Given the description of an element on the screen output the (x, y) to click on. 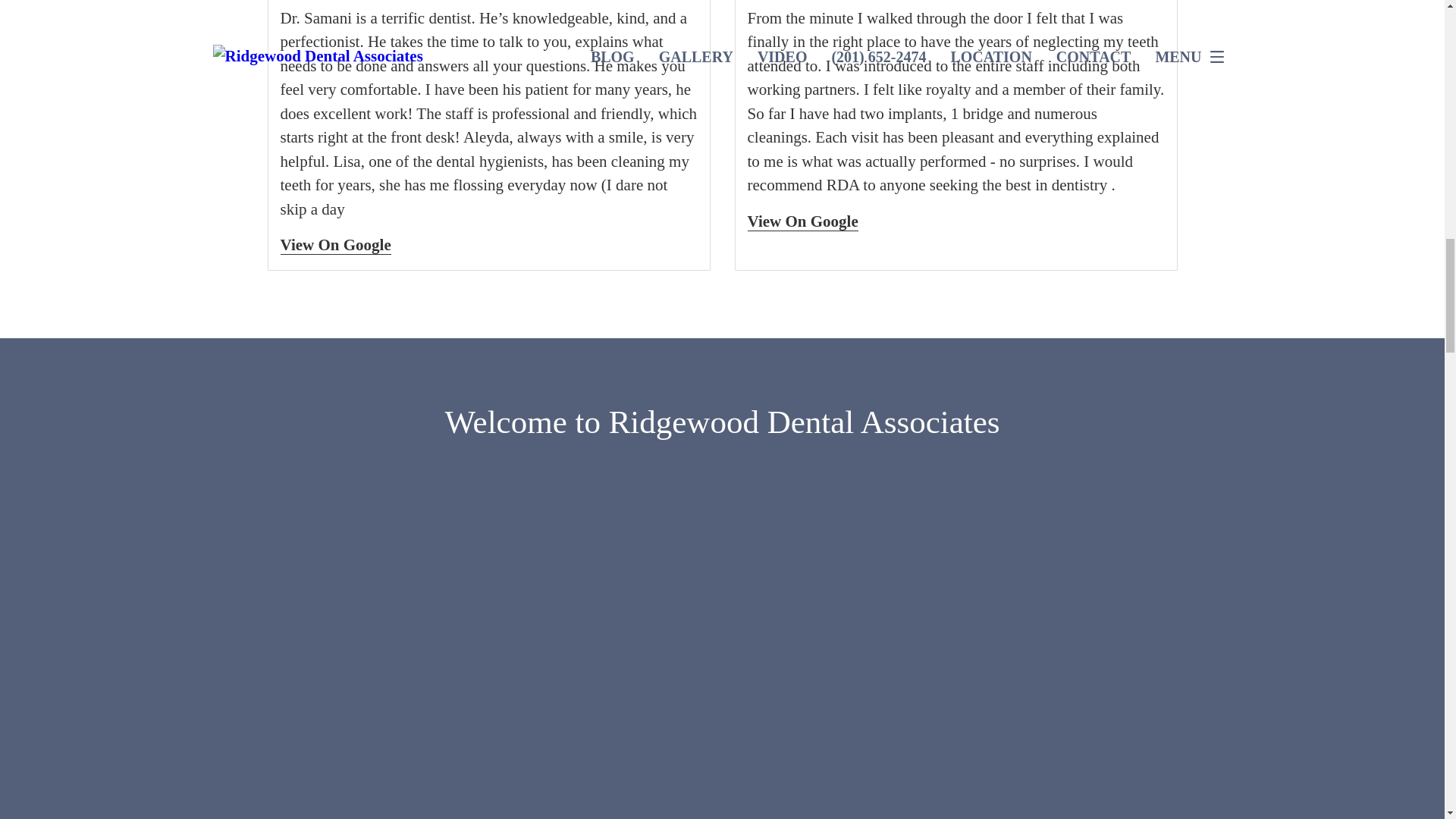
View On Google (803, 221)
View On Google (336, 244)
